Given the description of an element on the screen output the (x, y) to click on. 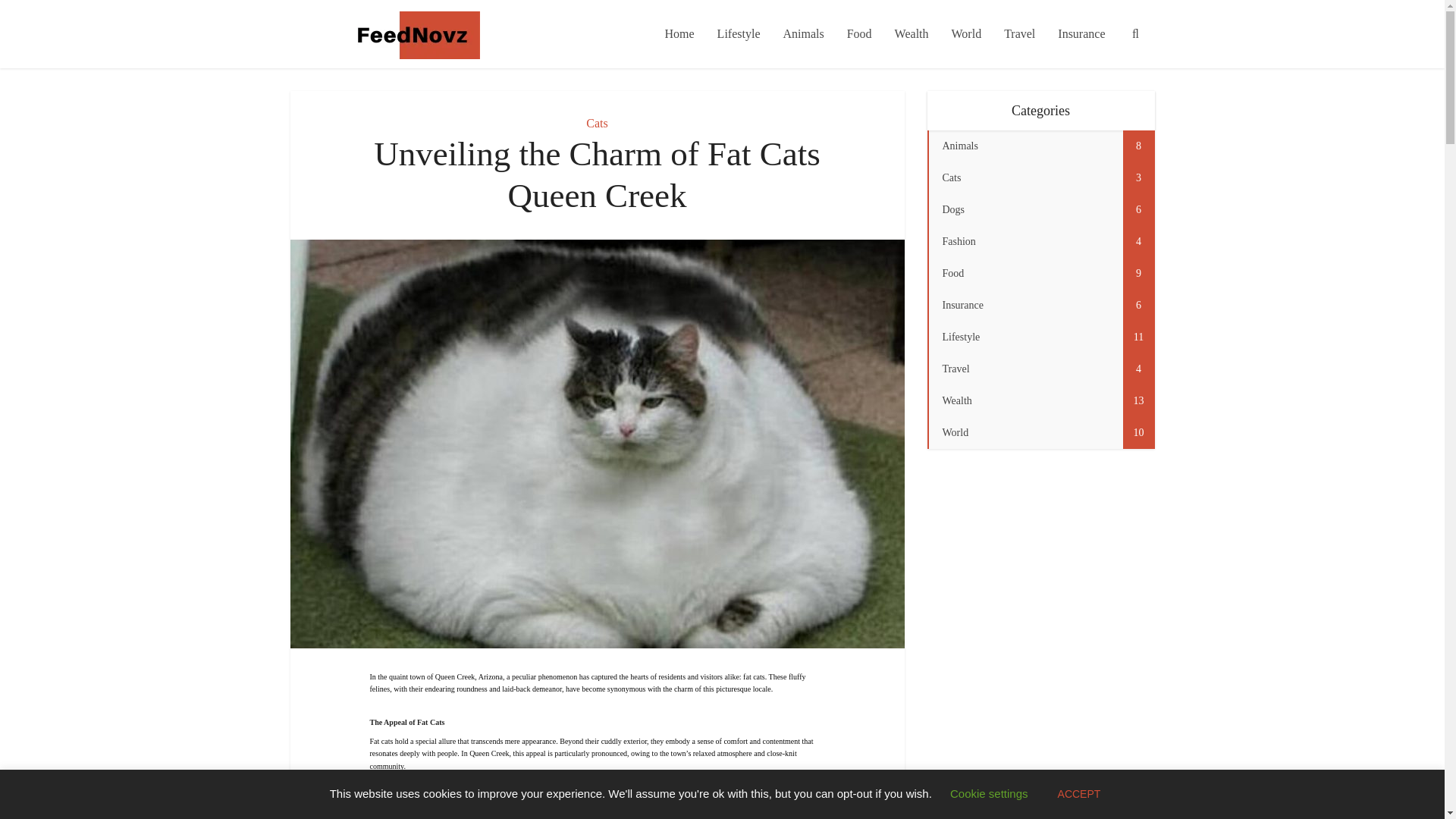
Insurance (1081, 33)
Lifestyle (738, 33)
Animals (802, 33)
Cats (596, 123)
